Given the description of an element on the screen output the (x, y) to click on. 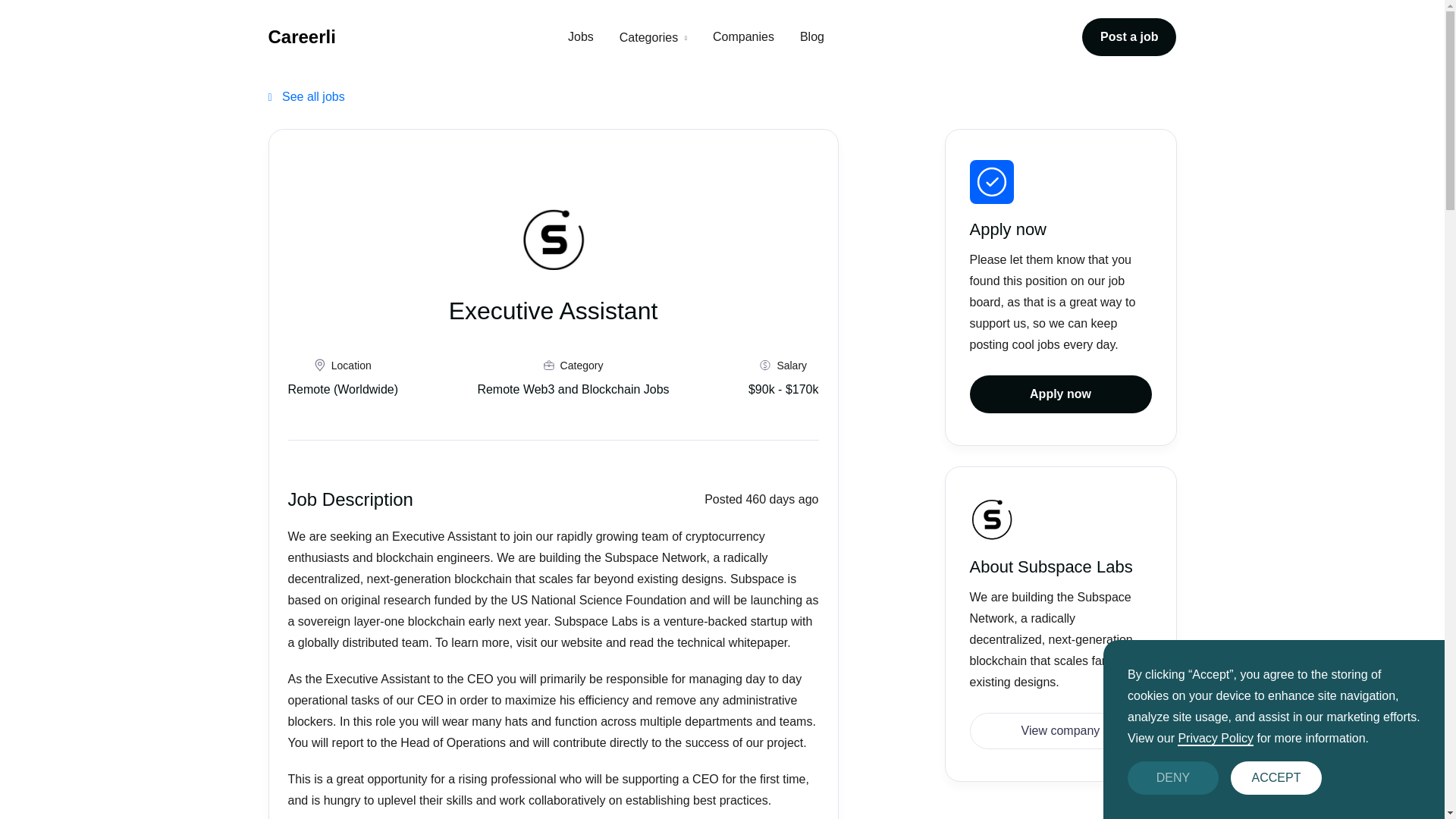
View company (1060, 730)
Blog (811, 36)
Apply now (1060, 394)
Post a job (1128, 37)
Careerli (301, 36)
Companies (743, 36)
Jobs (580, 36)
